Given the description of an element on the screen output the (x, y) to click on. 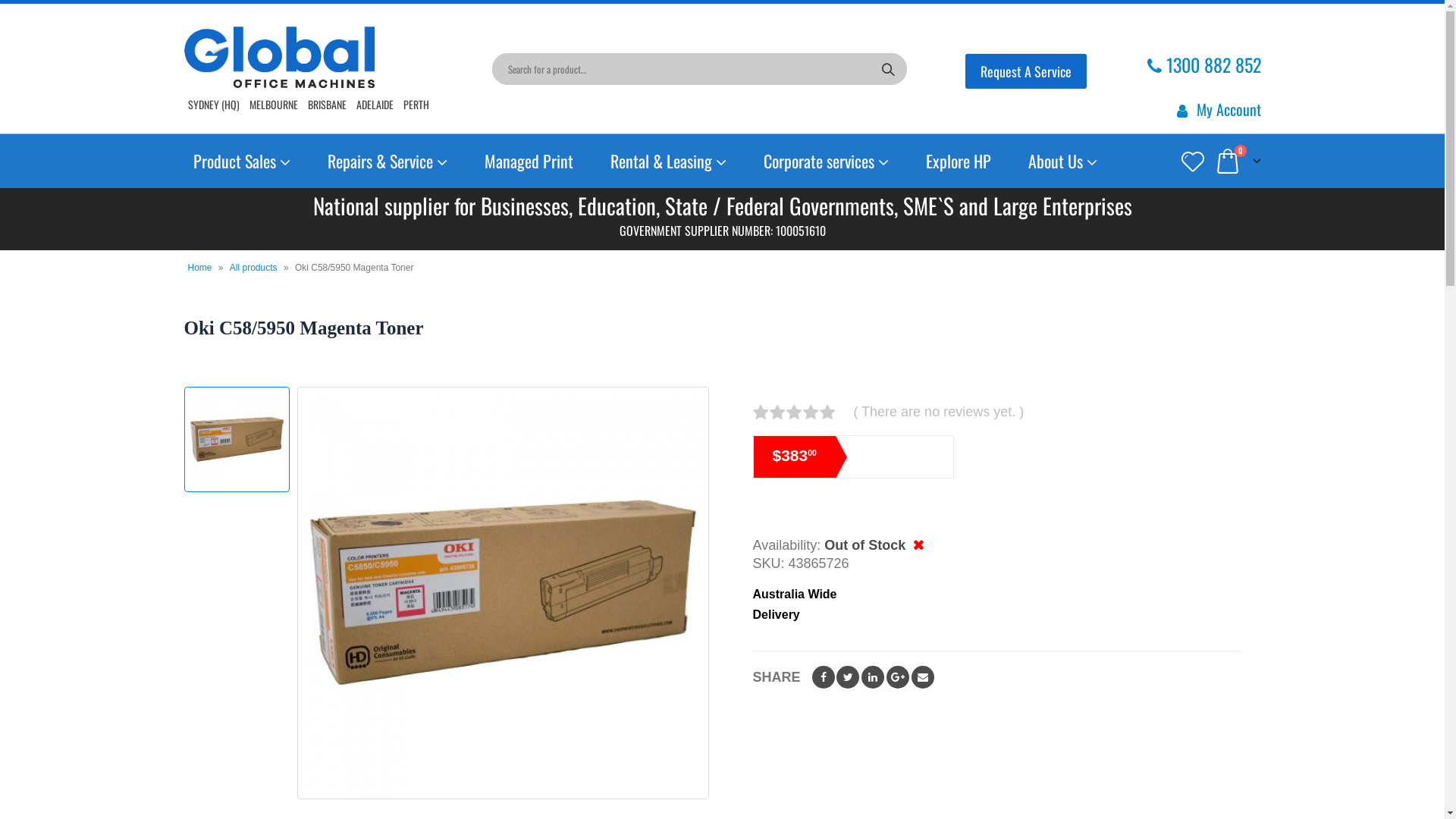
LinkedIn Element type: text (872, 676)
Product Sales Element type: text (240, 161)
About Us Element type: text (1062, 161)
Facebook Element type: text (823, 676)
Global Office Machines -  Element type: hover (278, 56)
All products Element type: text (253, 267)
Rental & Leasing Element type: text (667, 161)
BRISBANE Element type: text (326, 104)
Search Element type: hover (889, 68)
Repairs & Service Element type: text (387, 161)
1300 882 852 Element type: text (1203, 64)
Email Element type: text (922, 676)
Managed Print Element type: text (527, 160)
Explore HP Element type: text (957, 160)
SYDNEY (HQ) Element type: text (213, 104)
Corporate services Element type: text (825, 161)
My Account Element type: text (1215, 108)
MELBOURNE Element type: text (272, 104)
Google + Element type: text (897, 676)
PERTH Element type: text (416, 104)
Home Element type: text (200, 267)
( There are no reviews yet. ) Element type: text (943, 411)
ADELAIDE Element type: text (374, 104)
Request A Service Element type: text (1024, 70)
Twitter Element type: text (847, 676)
